Given the description of an element on the screen output the (x, y) to click on. 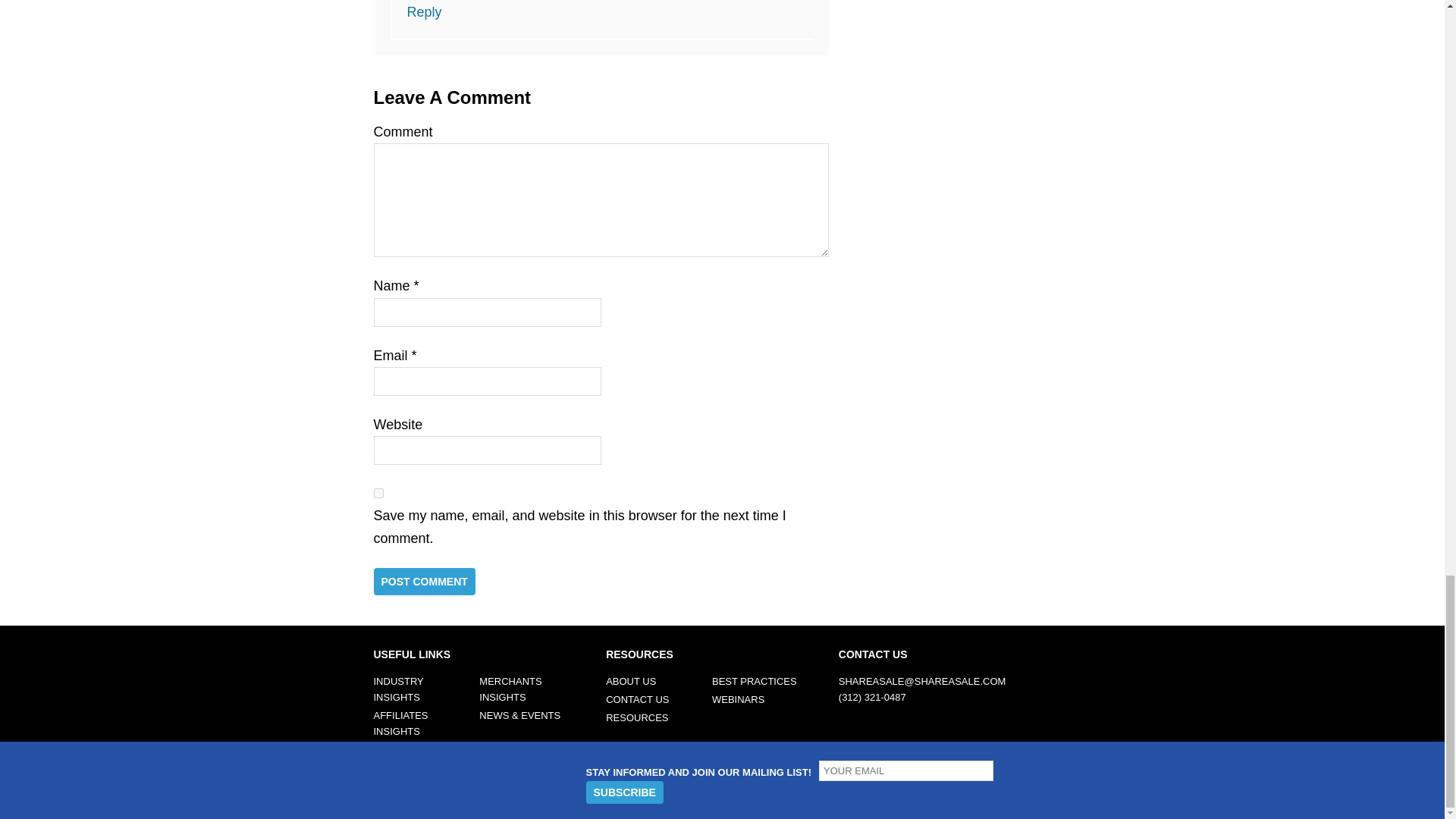
Post Comment (423, 581)
Reply (423, 11)
yes (377, 492)
